Given the description of an element on the screen output the (x, y) to click on. 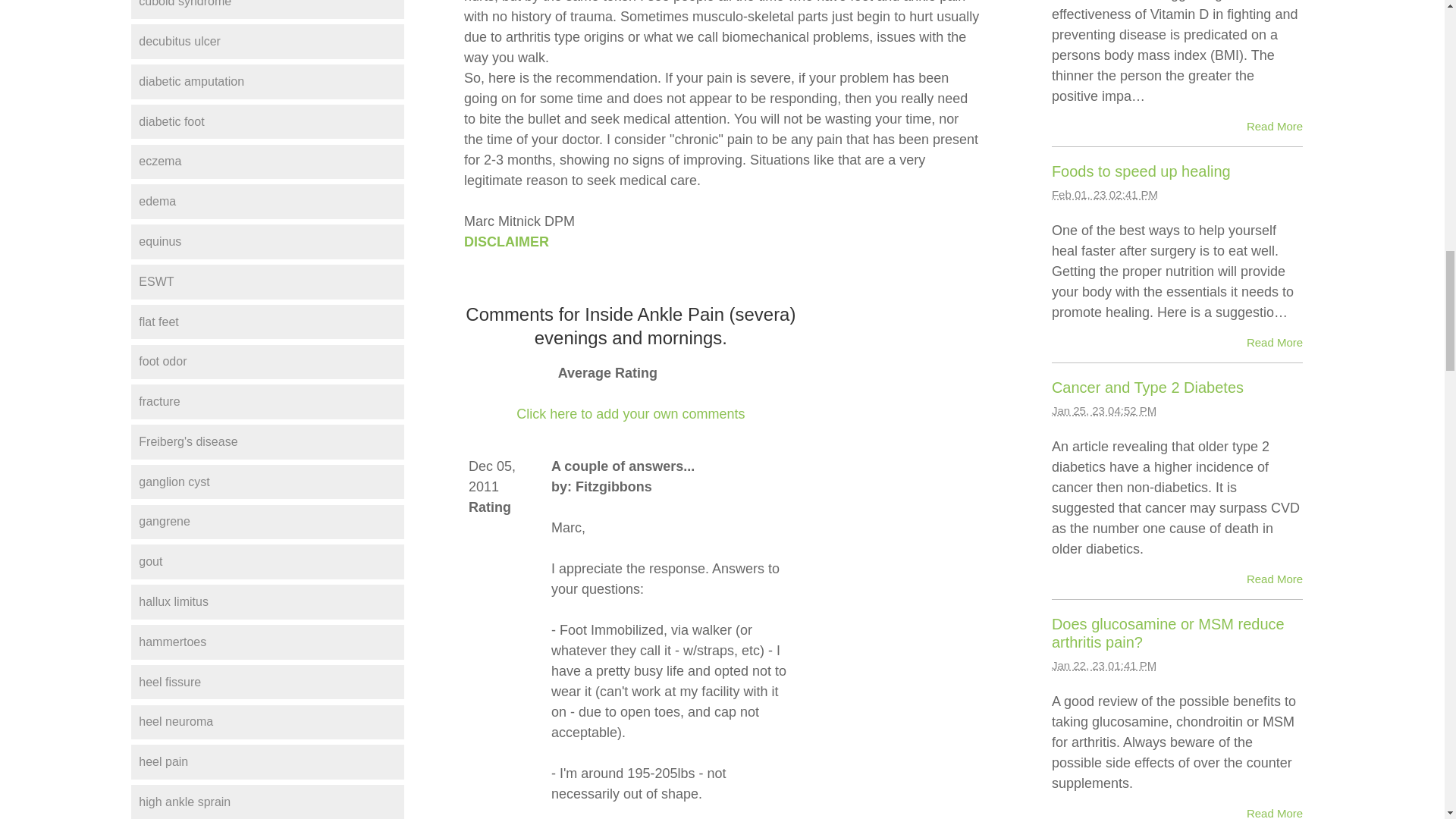
2023-01-22T13:41:39-0500 (1103, 665)
2023-02-01T14:41:41-0500 (1104, 194)
2023-01-25T16:52:22-0500 (1103, 410)
